Given the description of an element on the screen output the (x, y) to click on. 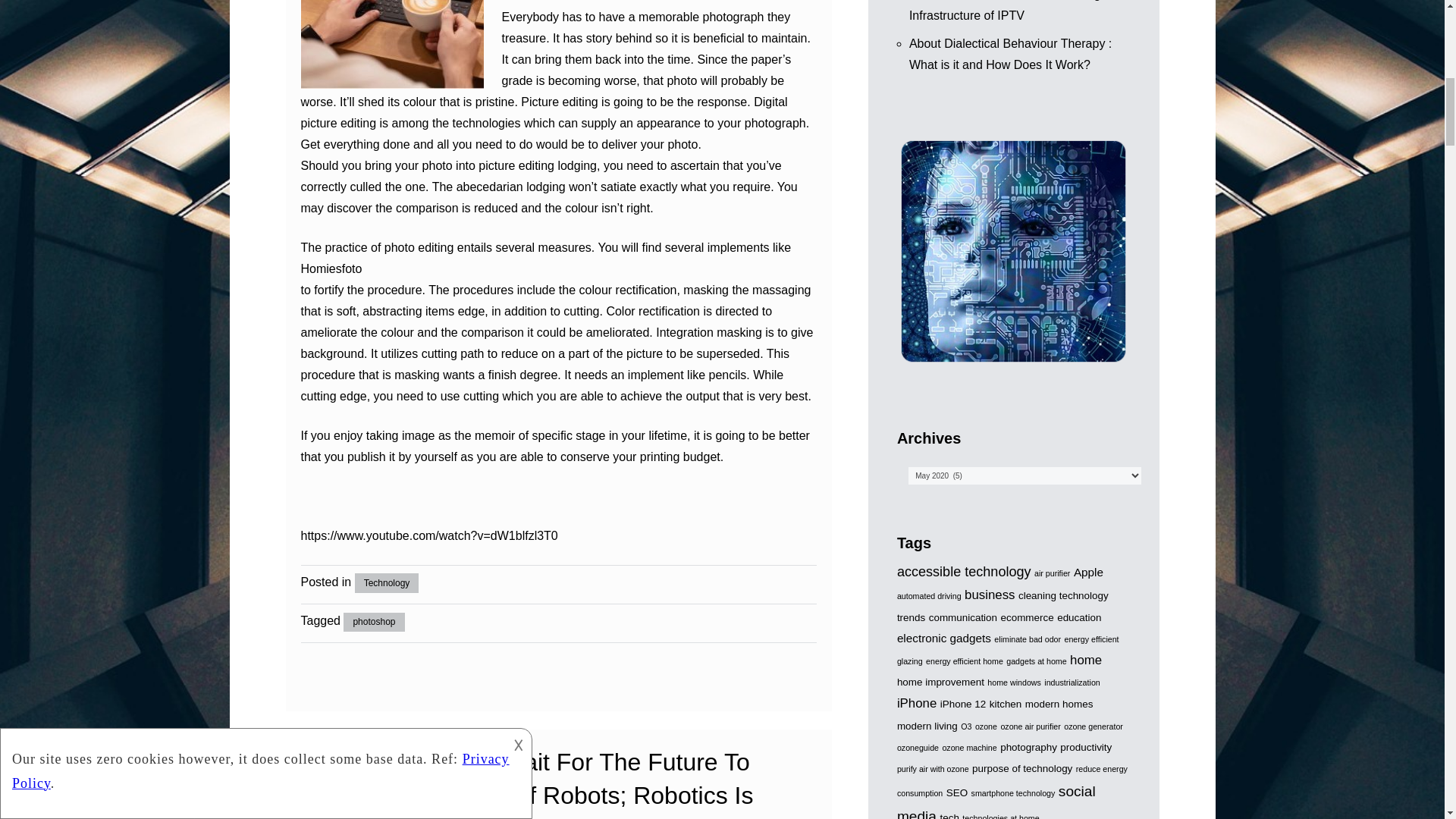
photoshop (373, 622)
Technology (387, 582)
